Given the description of an element on the screen output the (x, y) to click on. 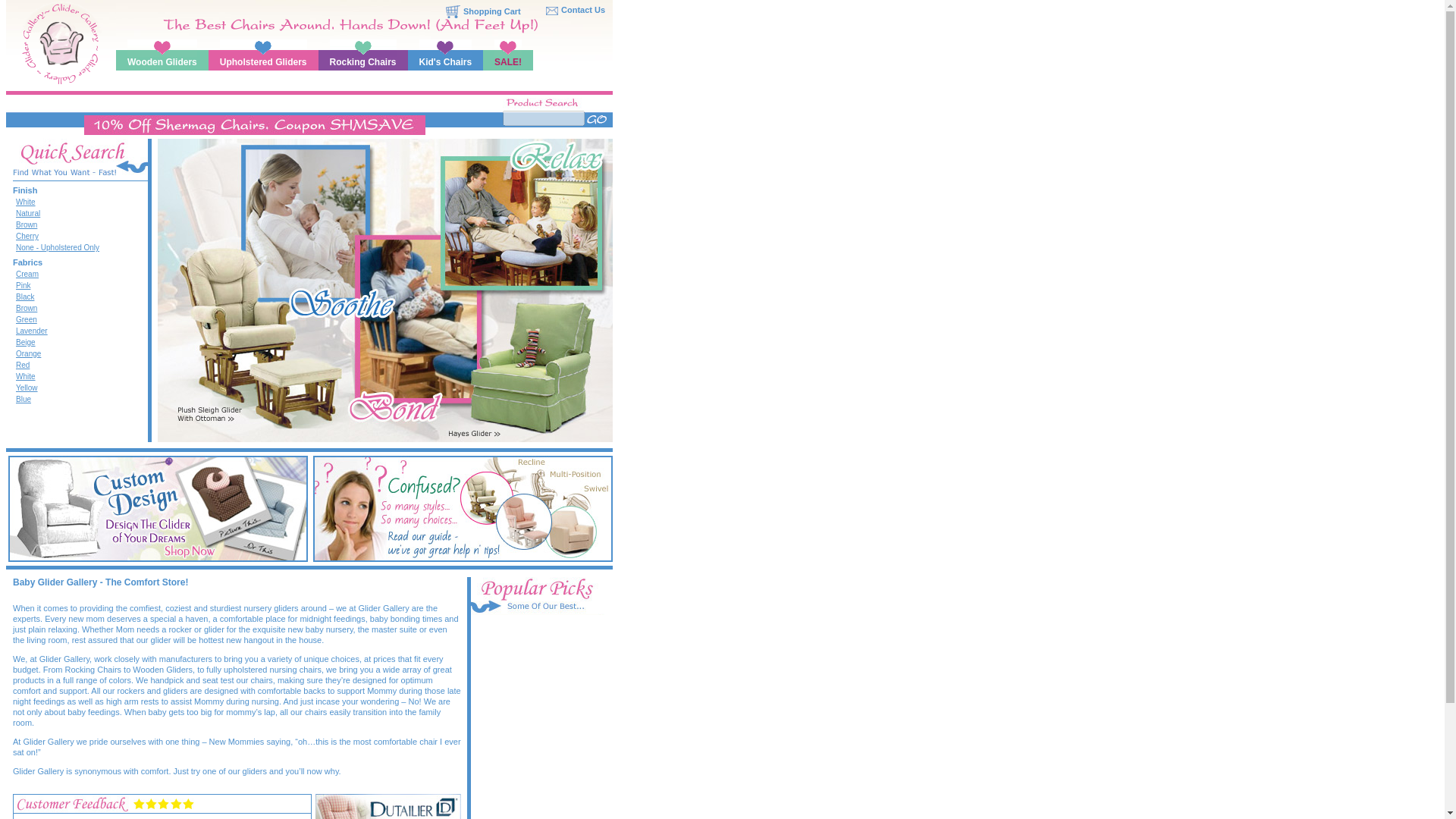
Upholstered Gliders (263, 61)
Pink (23, 285)
Natural (28, 213)
Contact Us (582, 9)
Green (26, 319)
Cherry (27, 235)
Wooden Gliders (162, 61)
Red (22, 365)
Lavender (32, 330)
Rocking Chairs (362, 61)
Beige (25, 342)
White (25, 376)
Cream (27, 274)
Brown (26, 307)
Yellow (26, 388)
